Given the description of an element on the screen output the (x, y) to click on. 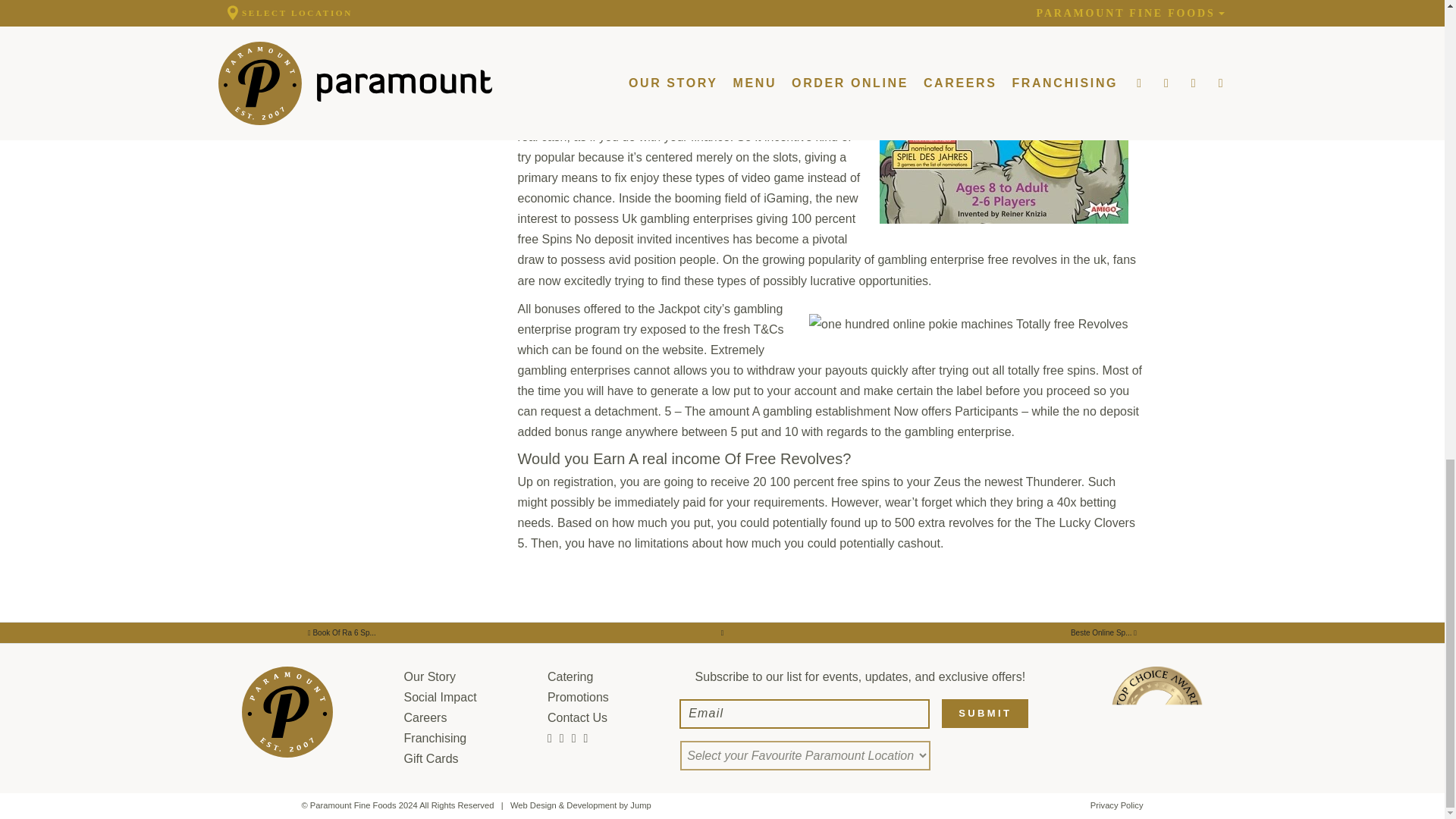
Submit (984, 713)
Book Of Ra 6 Sp... (341, 633)
Beste Online Sp... (1103, 633)
Previous Post (1103, 633)
Next Post (341, 633)
